Given the description of an element on the screen output the (x, y) to click on. 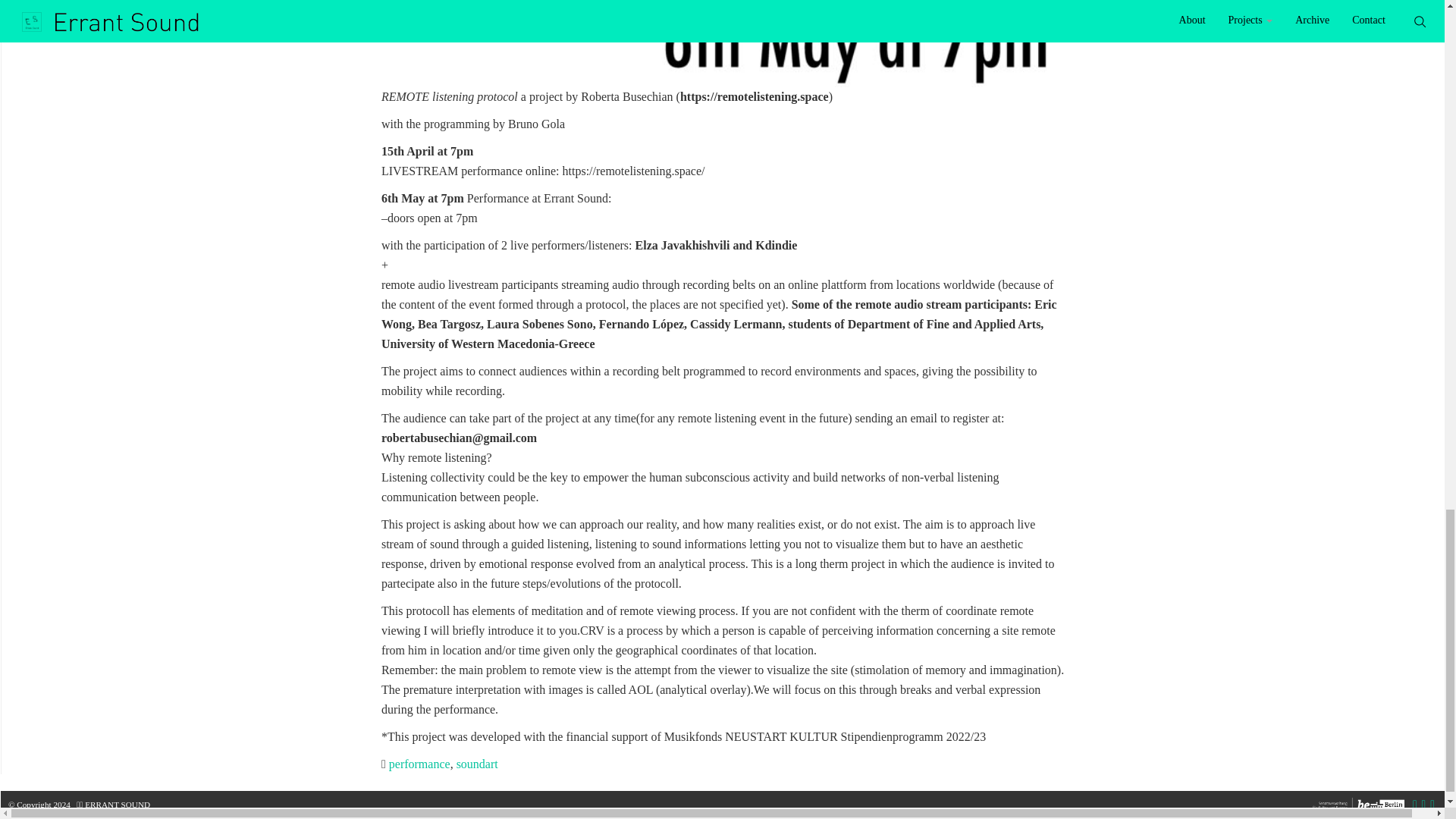
performance (418, 763)
soundart (477, 763)
